Given the description of an element on the screen output the (x, y) to click on. 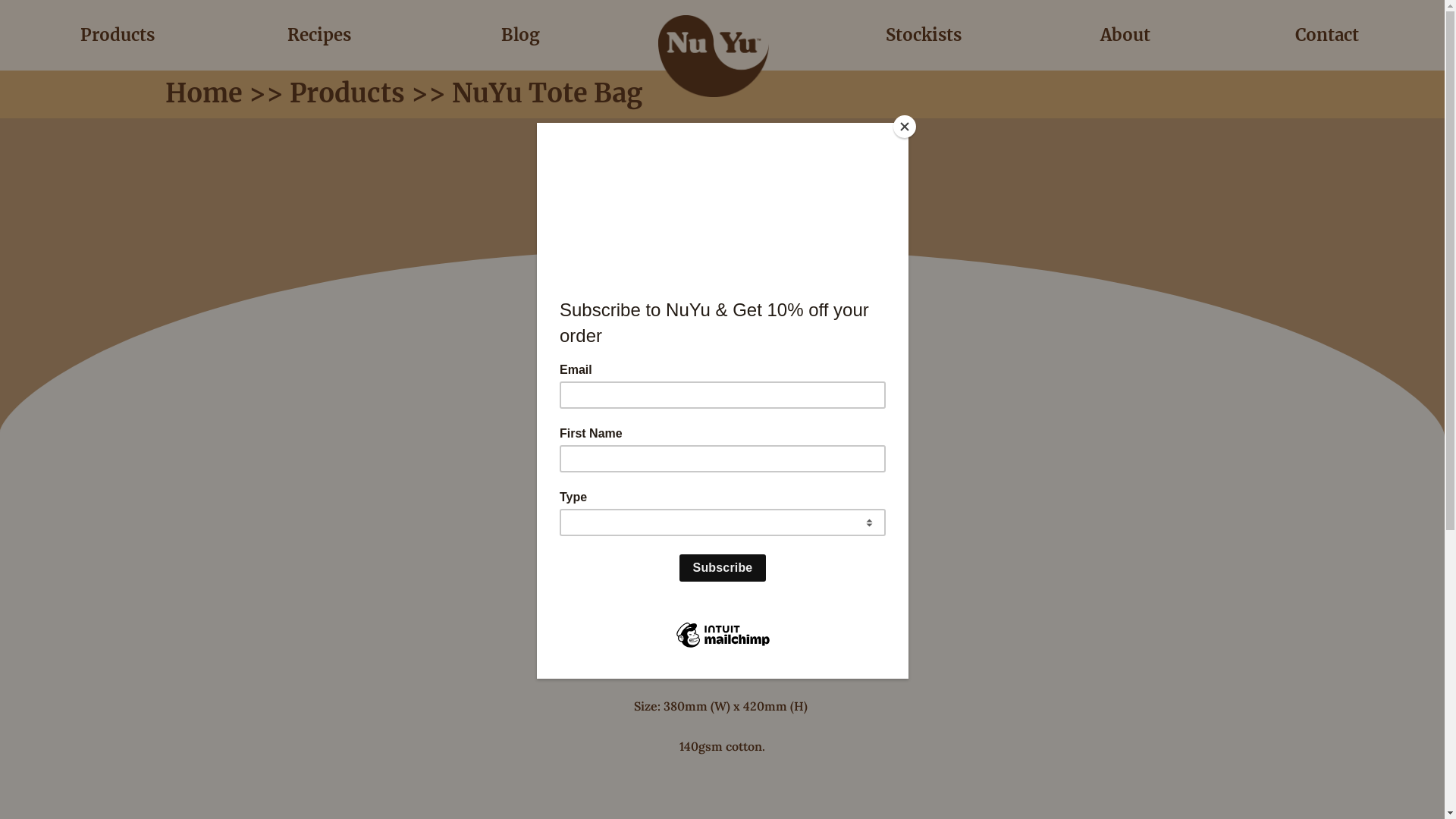
Products Element type: text (117, 34)
Products Element type: text (350, 93)
NuYu Tote Bag Element type: hover (722, 440)
Stockists Element type: text (923, 34)
Home Element type: text (206, 93)
Blog Element type: text (520, 34)
Contact Element type: text (1326, 34)
Recipes Element type: text (319, 34)
About Element type: text (1125, 34)
